Given the description of an element on the screen output the (x, y) to click on. 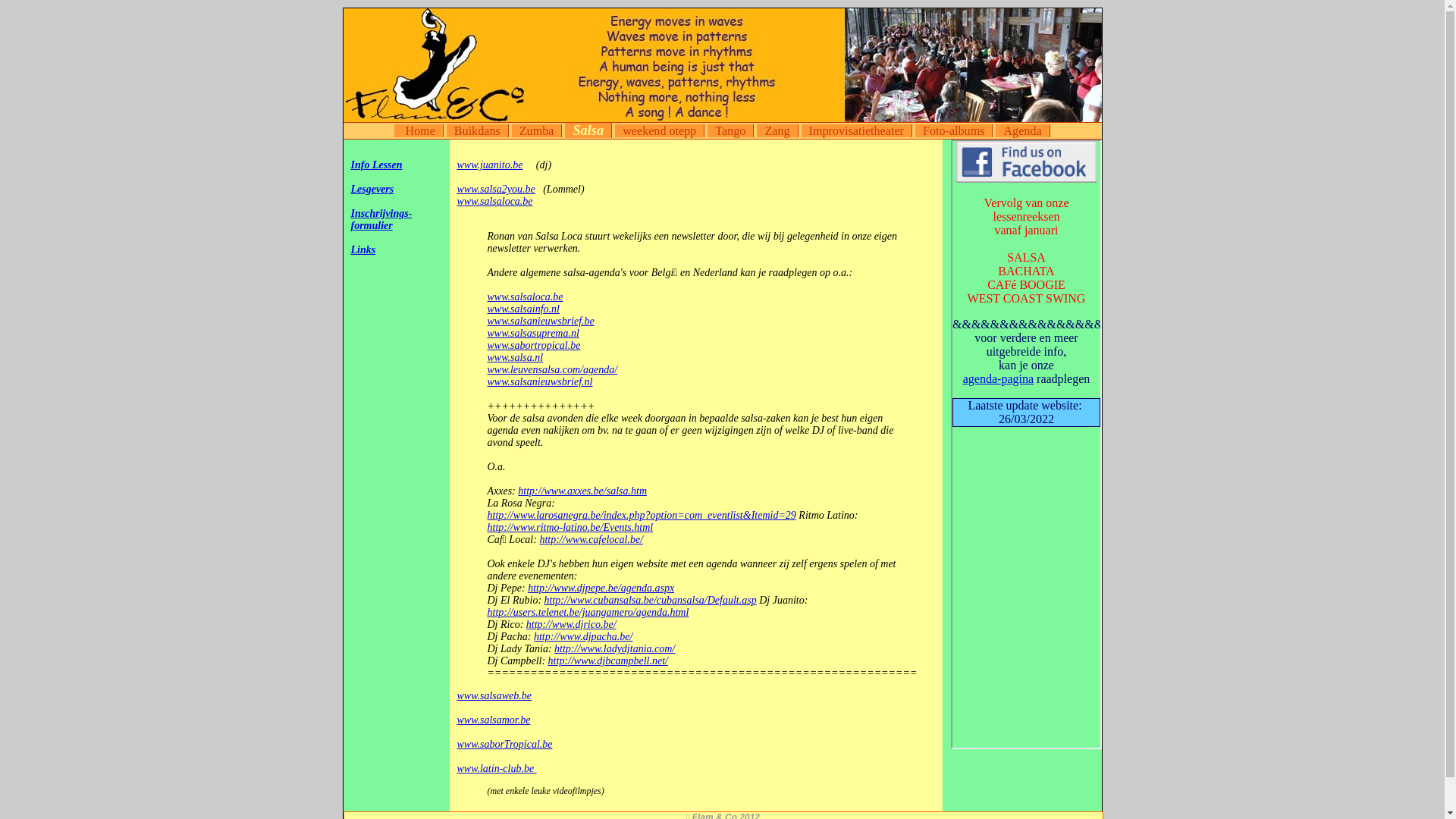
http://www.djbcampbell.net/ Element type: text (608, 660)
www.salsasuprema.nl Element type: text (532, 332)
http://www.djrico.be/ Element type: text (571, 624)
Salsa Element type: text (587, 130)
http://www.djpacha.be/ Element type: text (582, 636)
http://www.cafelocal.be/ Element type: text (591, 539)
Inschrijvings-
formulier Element type: text (380, 219)
www.salsaloca.be Element type: text (524, 296)
www.salsaweb.be Element type: text (493, 695)
www.salsanieuwsbrief.be Element type: text (539, 320)
http://www.djpepe.be/agenda.aspx Element type: text (600, 587)
http://www.axxes.be/salsa.htm Element type: text (581, 490)
www.latin-club.be  Element type: text (496, 768)
Links Element type: text (362, 249)
www.sabortropical.be Element type: text (533, 345)
www.juanito.be Element type: text (489, 164)
Info Lessen Element type: text (375, 164)
Tango Element type: text (730, 130)
Agenda Element type: text (1022, 130)
www.leuvensalsa.com/agenda/ Element type: text (551, 369)
http://www.ladydjtania.com/ Element type: text (614, 648)
www.salsa2you.be Element type: text (495, 188)
Buikdans Element type: text (477, 130)
Lesgevers Element type: text (371, 188)
www.salsaloca.be Element type: text (494, 201)
Improvisatietheater Element type: text (856, 130)
http://www.cubansalsa.be/cubansalsa/Default.asp Element type: text (650, 599)
http://users.telenet.be/juangamero/agenda.html Element type: text (587, 612)
 Home Element type: text (418, 130)
Zang Element type: text (776, 130)
weekend otepp Element type: text (659, 130)
Zumba Element type: text (536, 130)
http://www.ritmo-latino.be/Events.html Element type: text (569, 527)
www.salsa.nl Element type: text (514, 357)
www.salsainfo.nl Element type: text (522, 308)
www.salsanieuwsbrief.nl Element type: text (539, 381)
www.saborTropical.be Element type: text (504, 743)
Foto-albums Element type: text (954, 130)
www.salsamor.be Element type: text (493, 719)
